Given the description of an element on the screen output the (x, y) to click on. 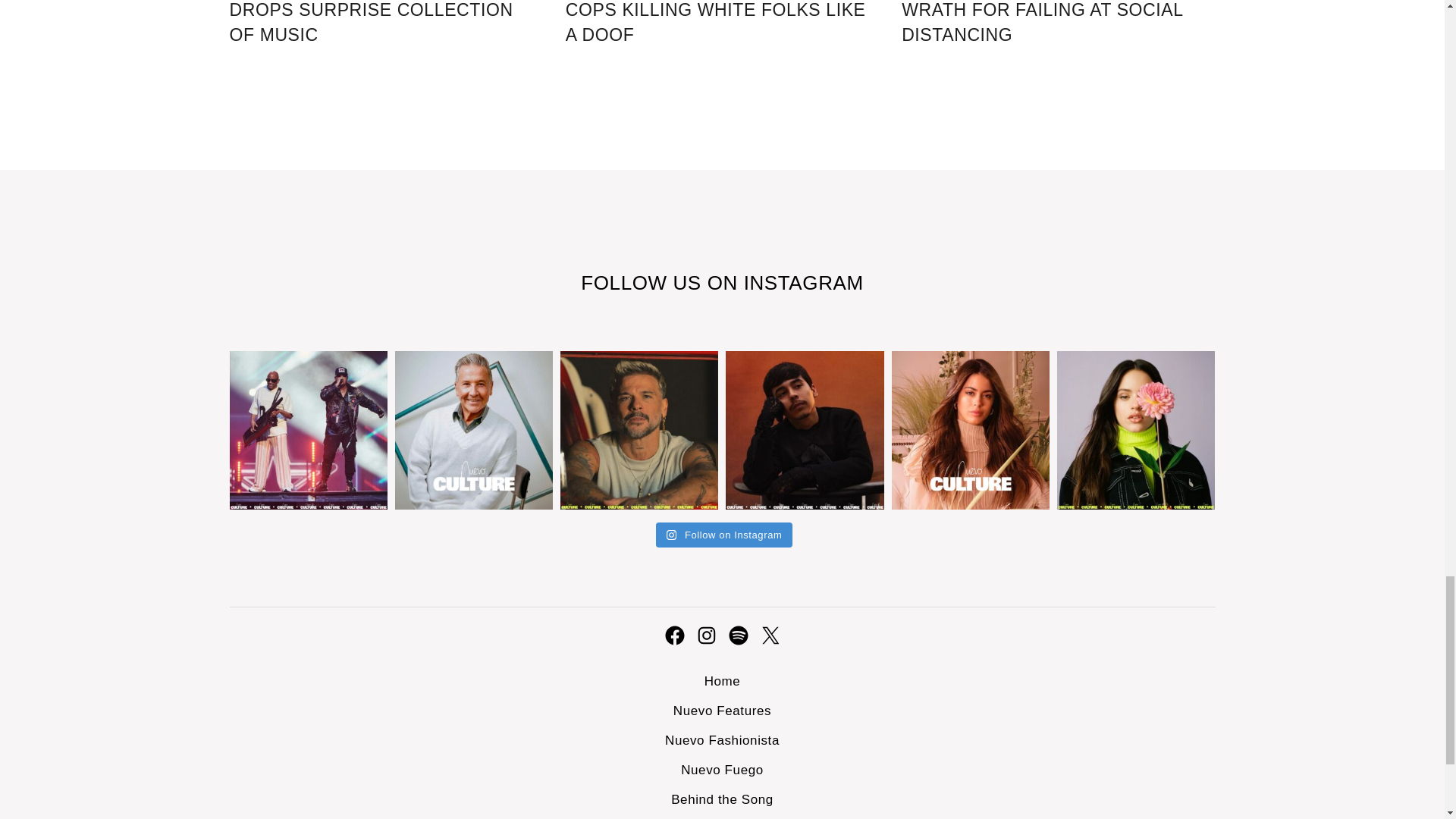
FOLLOW US ON  (661, 282)
